Given the description of an element on the screen output the (x, y) to click on. 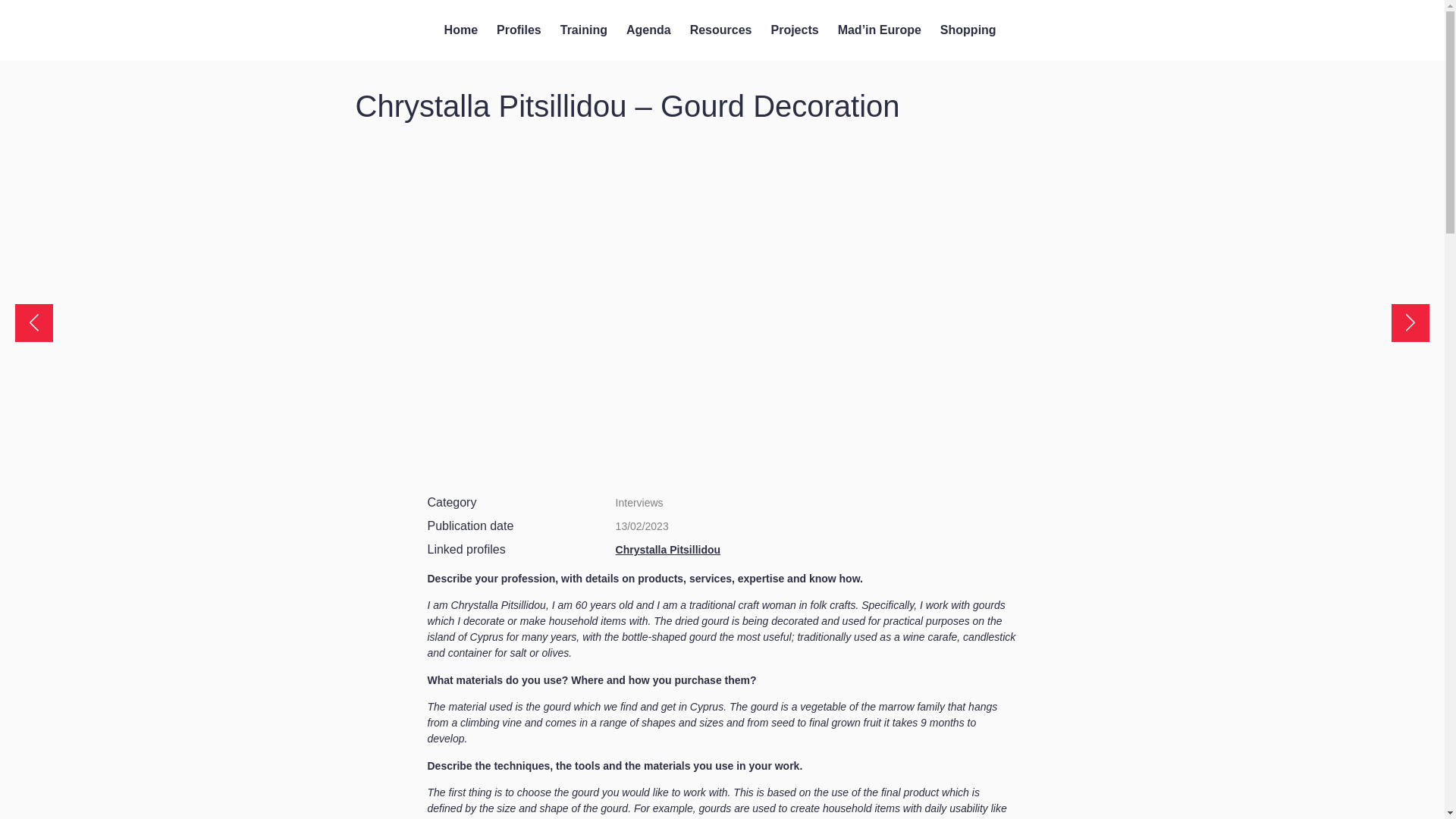
Training (583, 30)
Agenda (648, 30)
English (1334, 30)
library (319, 105)
Home (460, 30)
Resources (721, 30)
Projects (794, 30)
Profiles (518, 30)
Shopping (967, 30)
